Given the description of an element on the screen output the (x, y) to click on. 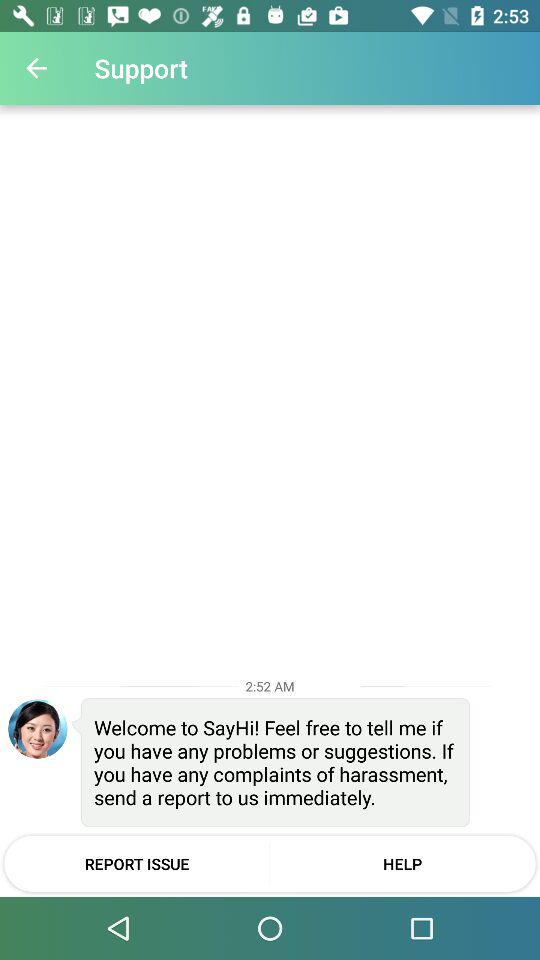
launch icon below the 2:52 am icon (37, 728)
